Given the description of an element on the screen output the (x, y) to click on. 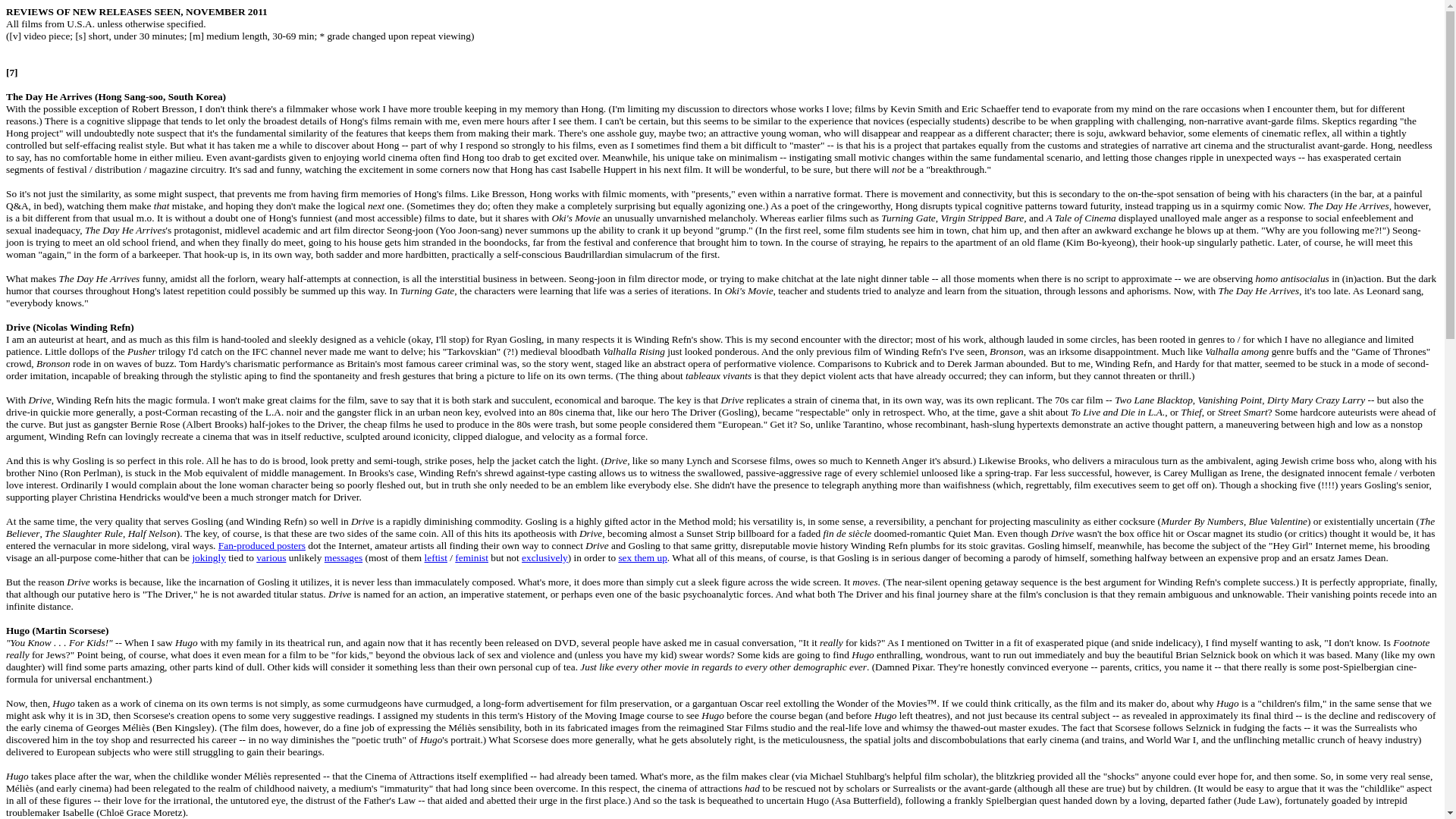
sex them up (641, 557)
feminist (470, 557)
exclusively (544, 557)
jokingly (208, 557)
leftist (435, 557)
Fan-produced posters (261, 545)
various (270, 557)
messages (343, 557)
